Given the description of an element on the screen output the (x, y) to click on. 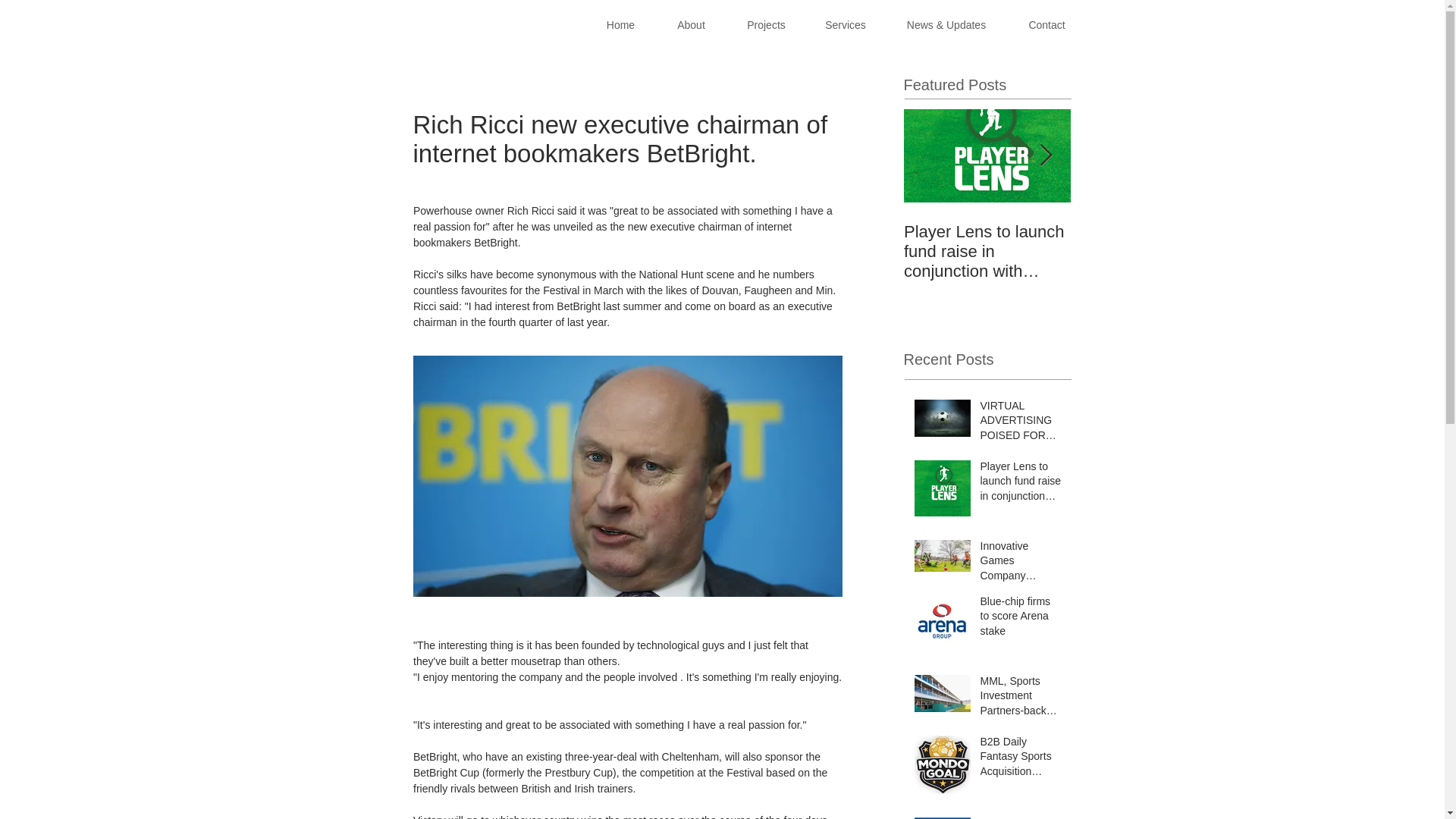
Services (845, 25)
Projects (765, 25)
VIRTUAL ADVERTISING POISED FOR THE BUNDESLIGA (1020, 423)
Blue-chip firms to score Arena stake (1020, 619)
MML, Sports Investment Partners-backed Arena Group to float (1020, 699)
About (690, 25)
Contact (1046, 25)
Home (620, 25)
